Given the description of an element on the screen output the (x, y) to click on. 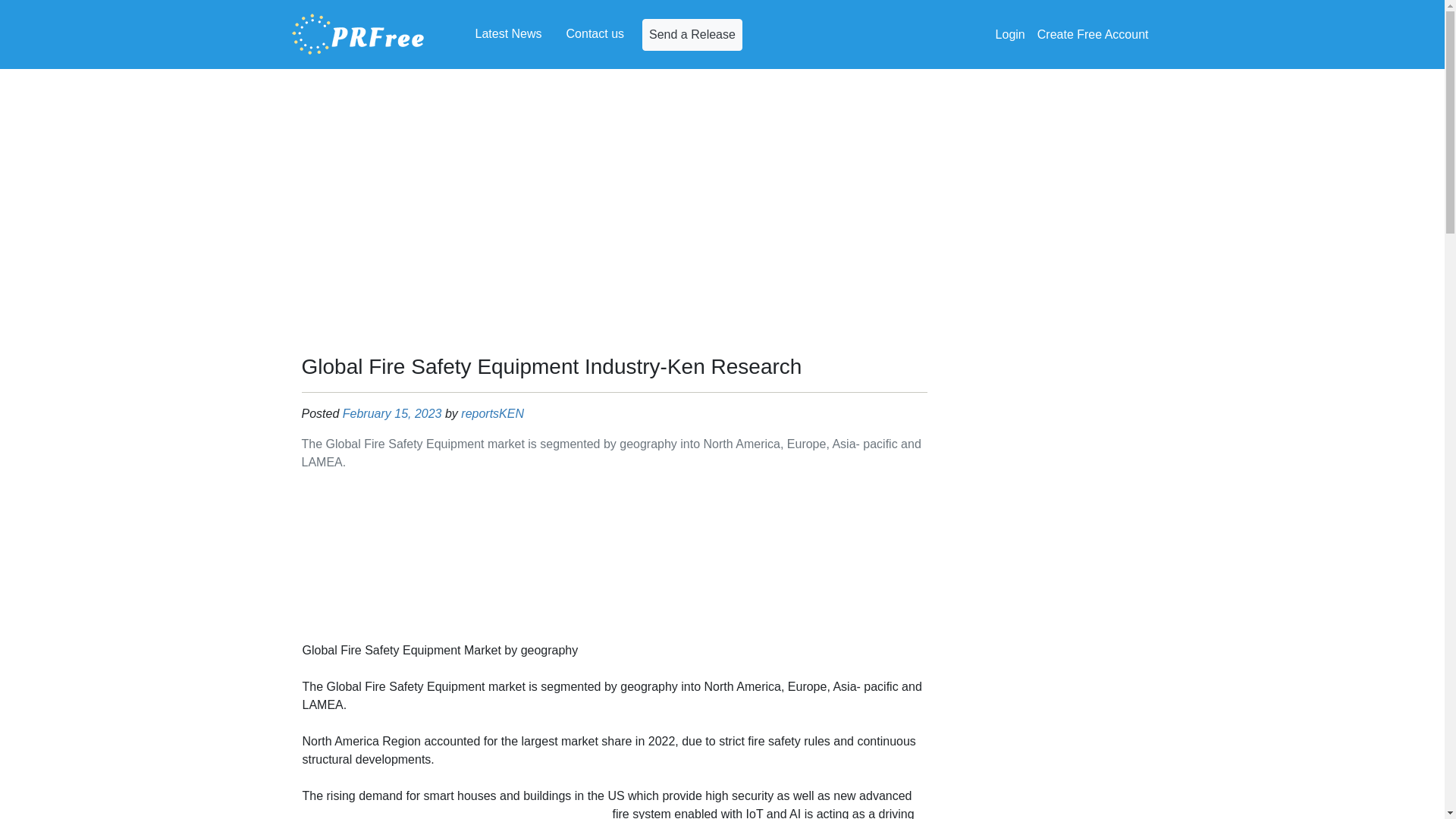
Latest News (507, 33)
Advertisement (614, 559)
reportsKEN (492, 413)
Create Free Account (1092, 34)
February 15, 2023 (392, 413)
Send a Release (692, 33)
Contact us (595, 33)
Login (1010, 34)
PFRree (357, 34)
